Given the description of an element on the screen output the (x, y) to click on. 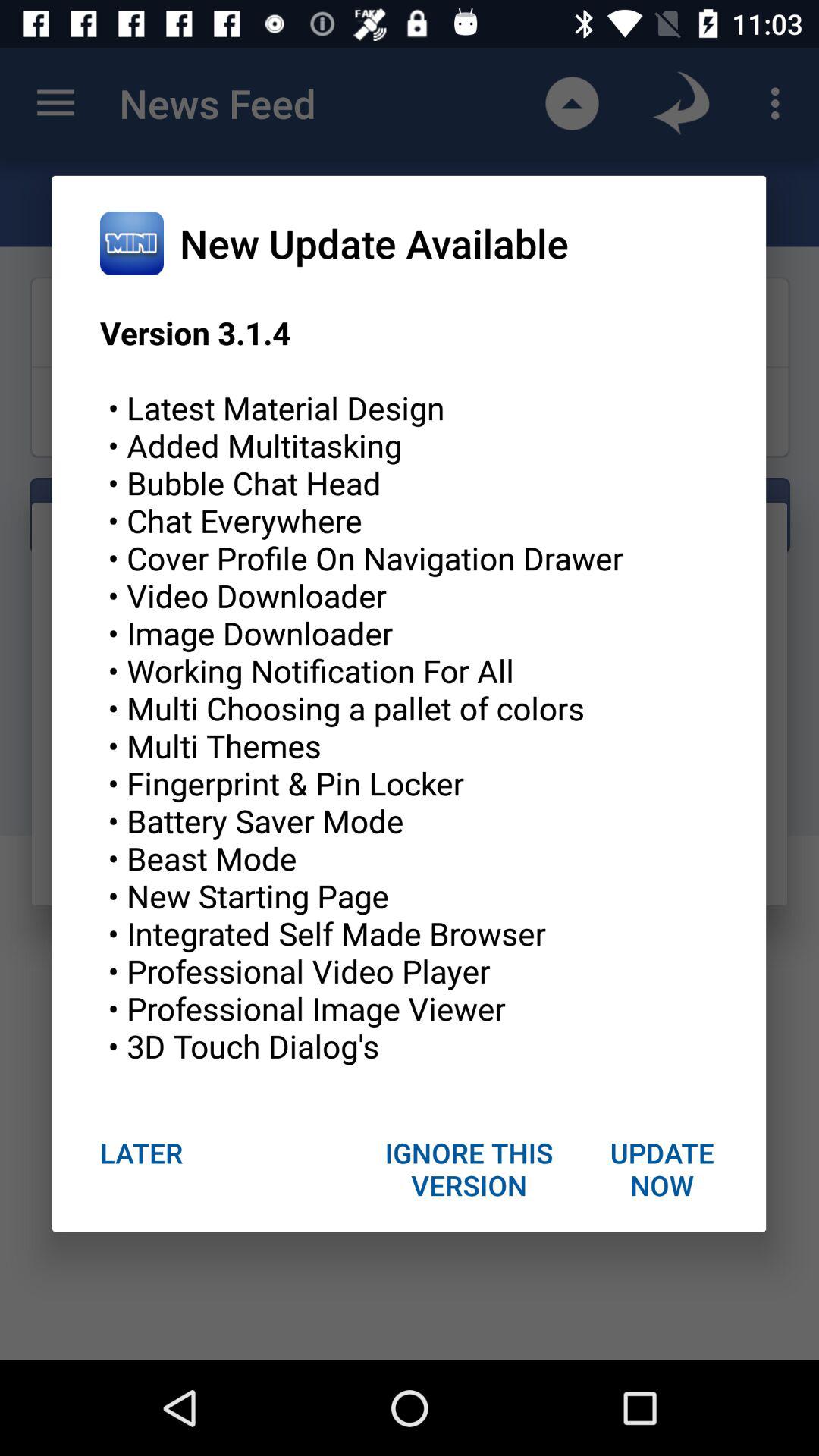
select later item (141, 1153)
